Given the description of an element on the screen output the (x, y) to click on. 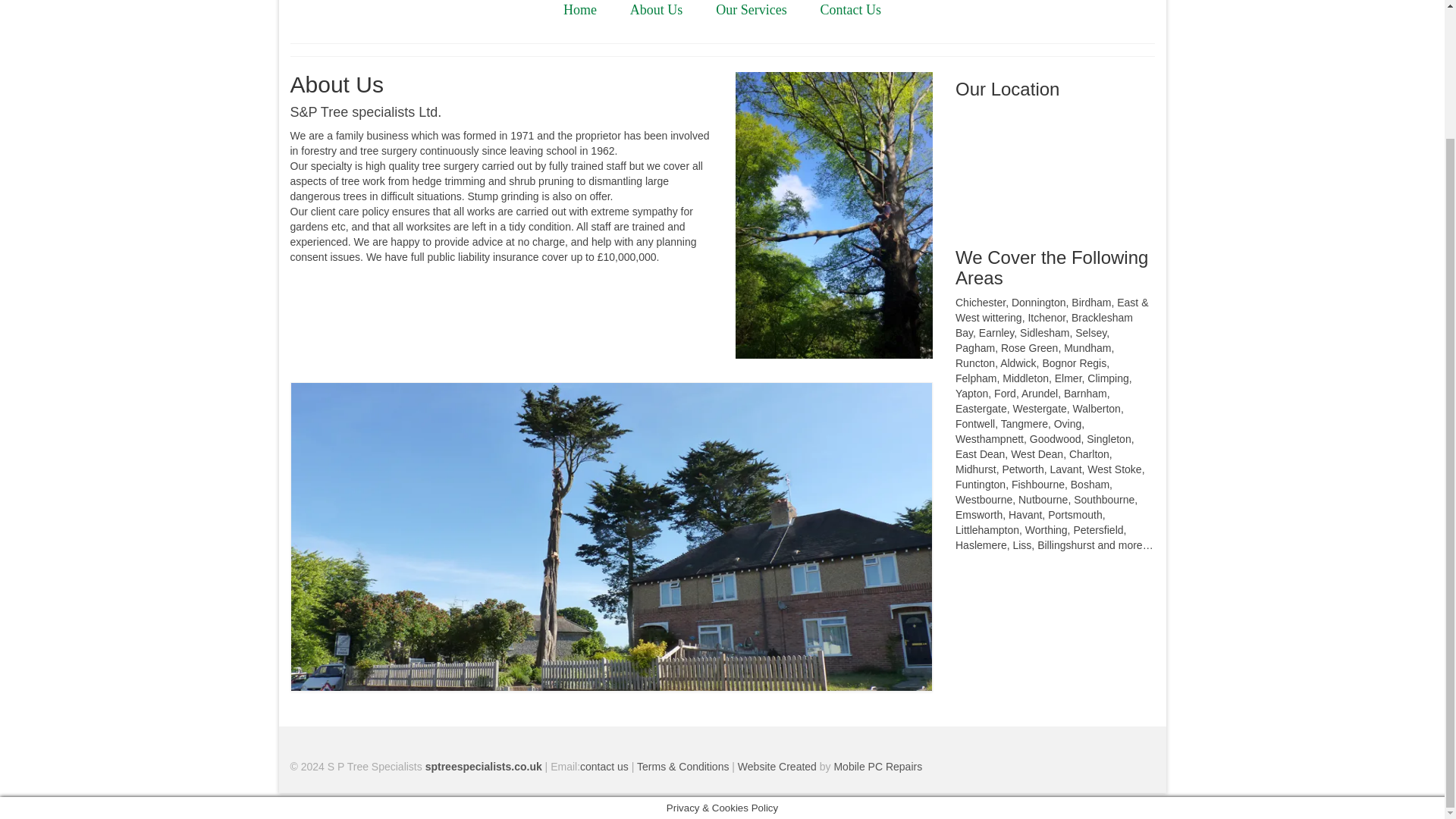
Home (579, 12)
Mobile PC Repairs (876, 766)
Our Services (751, 12)
chichester tree surgery (683, 766)
About Us (656, 12)
contact us (603, 766)
Website Created (777, 766)
Contact Us (850, 12)
sptreespecialists.co.uk (483, 766)
chichester tree surgery (483, 766)
